Given the description of an element on the screen output the (x, y) to click on. 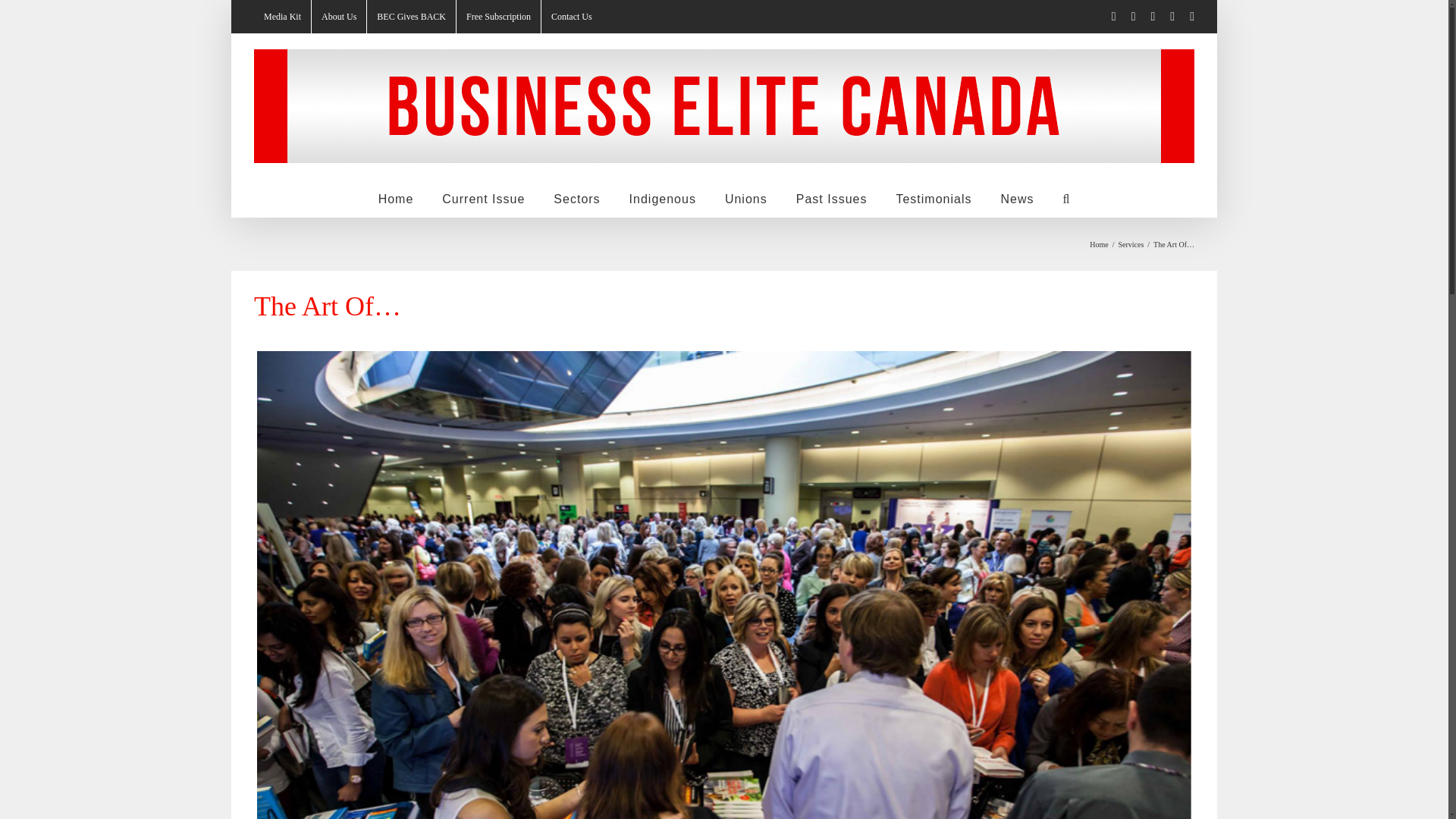
Free Subscription (498, 16)
Contact Us (571, 16)
Unions (746, 198)
BEC Gives BACK (410, 16)
Media Kit (282, 16)
Past Issues (831, 198)
Sectors (576, 198)
Current Issue (483, 198)
Home (395, 198)
Indigenous (661, 198)
About Us (338, 16)
